Given the description of an element on the screen output the (x, y) to click on. 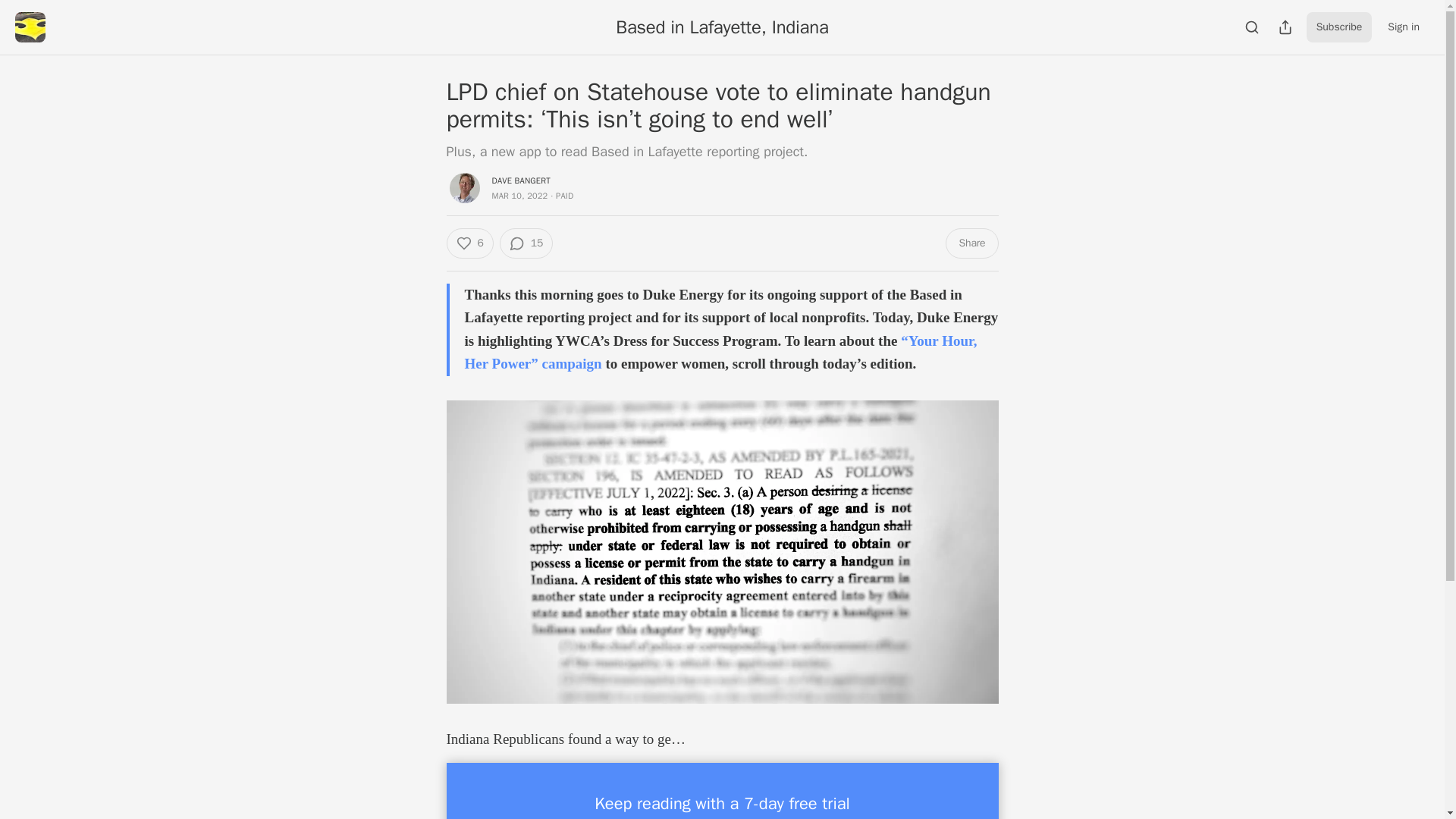
Subscribe (1339, 27)
Based in Lafayette, Indiana (721, 26)
15 (526, 243)
Share (970, 243)
Sign in (1403, 27)
DAVE BANGERT (521, 180)
6 (469, 243)
